Given the description of an element on the screen output the (x, y) to click on. 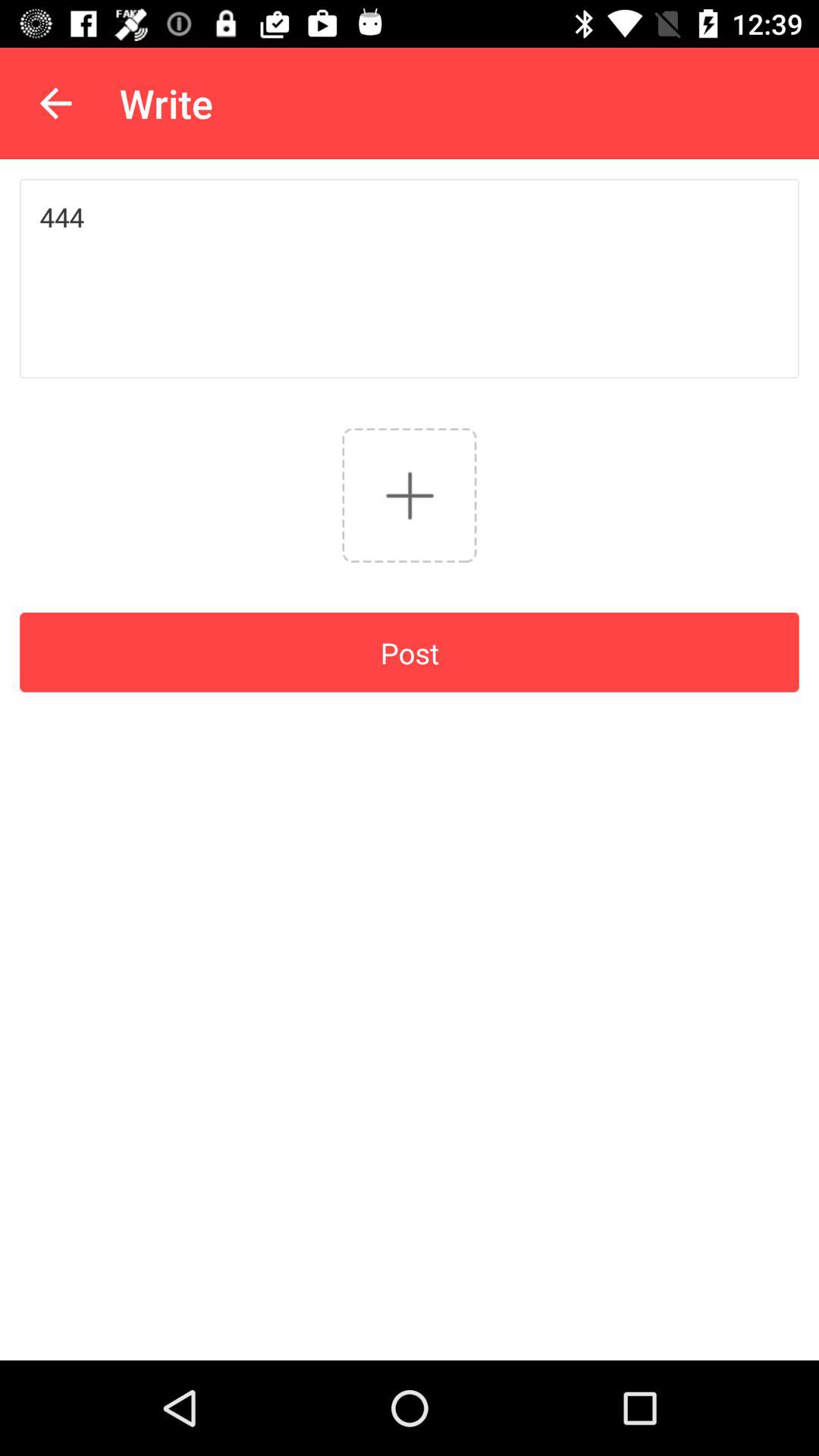
turn on 444 icon (409, 278)
